Given the description of an element on the screen output the (x, y) to click on. 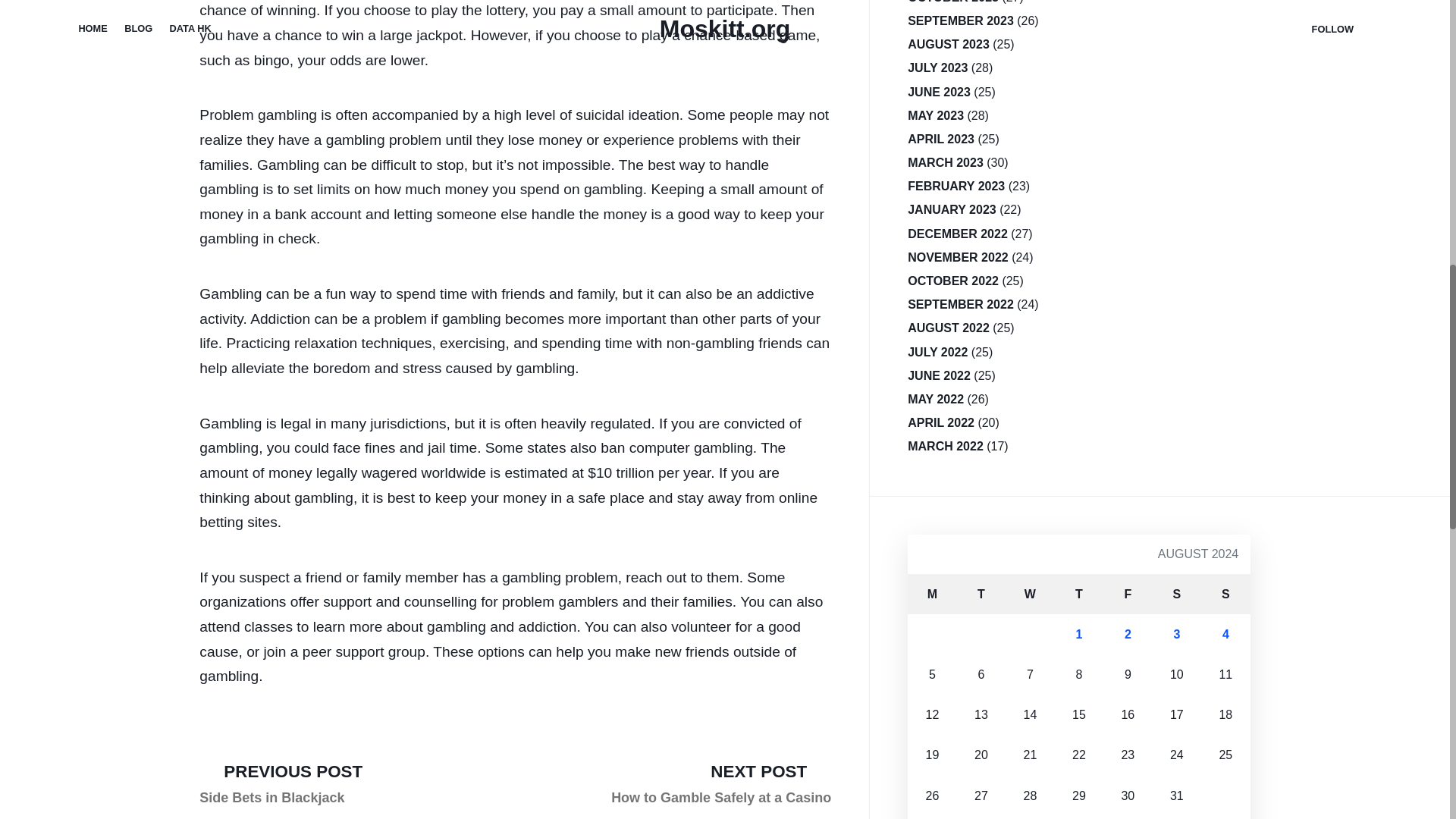
Saturday (1177, 594)
Monday (931, 594)
Wednesday (721, 783)
Thursday (1030, 594)
SEPTEMBER 2023 (1078, 594)
JUNE 2023 (960, 20)
Tuesday (939, 92)
Sunday (280, 783)
Friday (981, 594)
OCTOBER 2023 (1225, 594)
AUGUST 2023 (1127, 594)
JULY 2023 (952, 4)
